Given the description of an element on the screen output the (x, y) to click on. 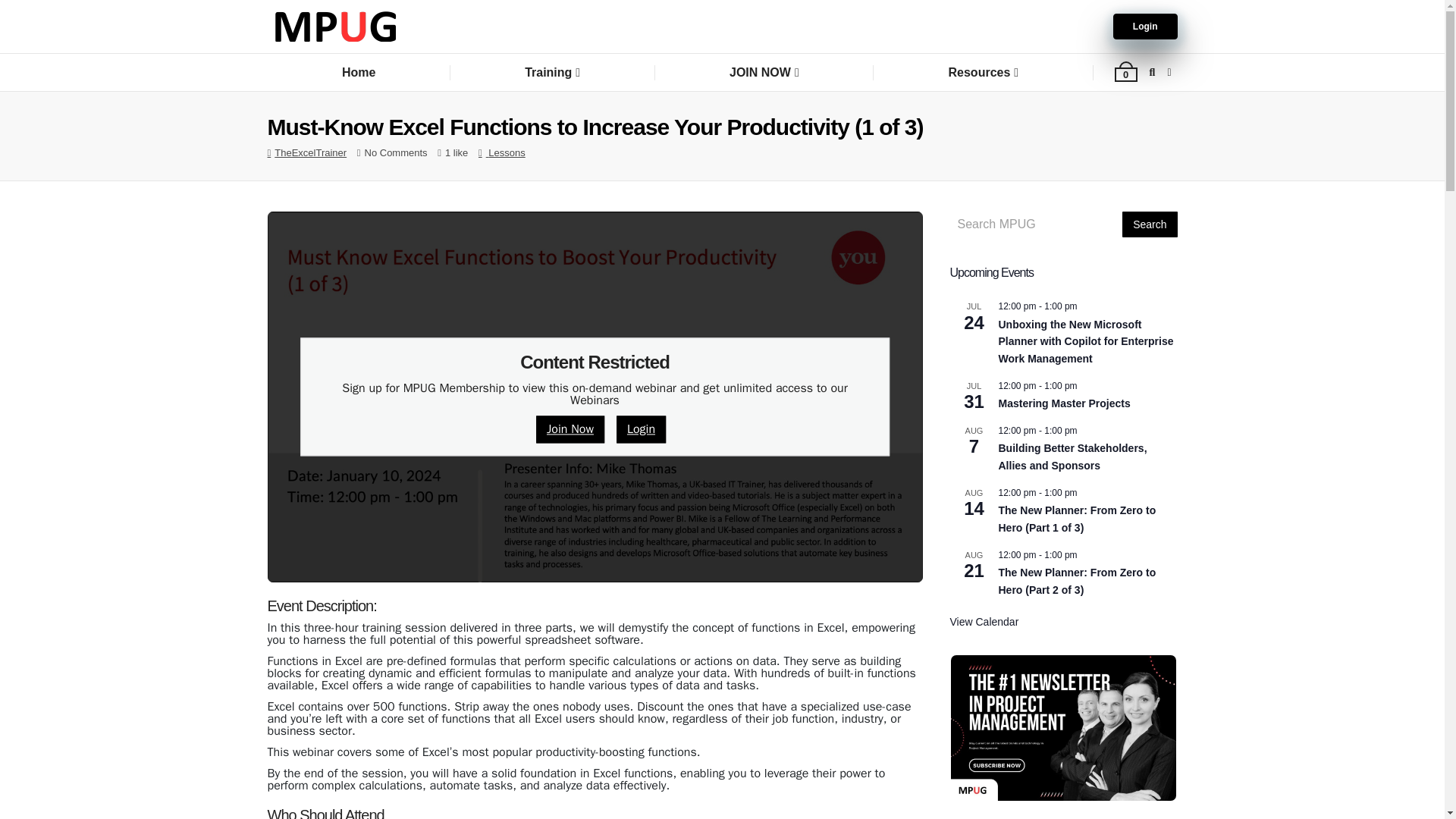
Join Now (569, 429)
No Comments (396, 152)
TheExcelTrainer (310, 152)
Home (358, 72)
0 (1126, 74)
Login (1145, 26)
Login (640, 429)
View your shopping cart (1126, 74)
MPUG (334, 26)
Lessons (505, 152)
JOIN NOW (764, 72)
Join Now (570, 428)
Training (552, 72)
Login (641, 428)
Resources (983, 72)
